Given the description of an element on the screen output the (x, y) to click on. 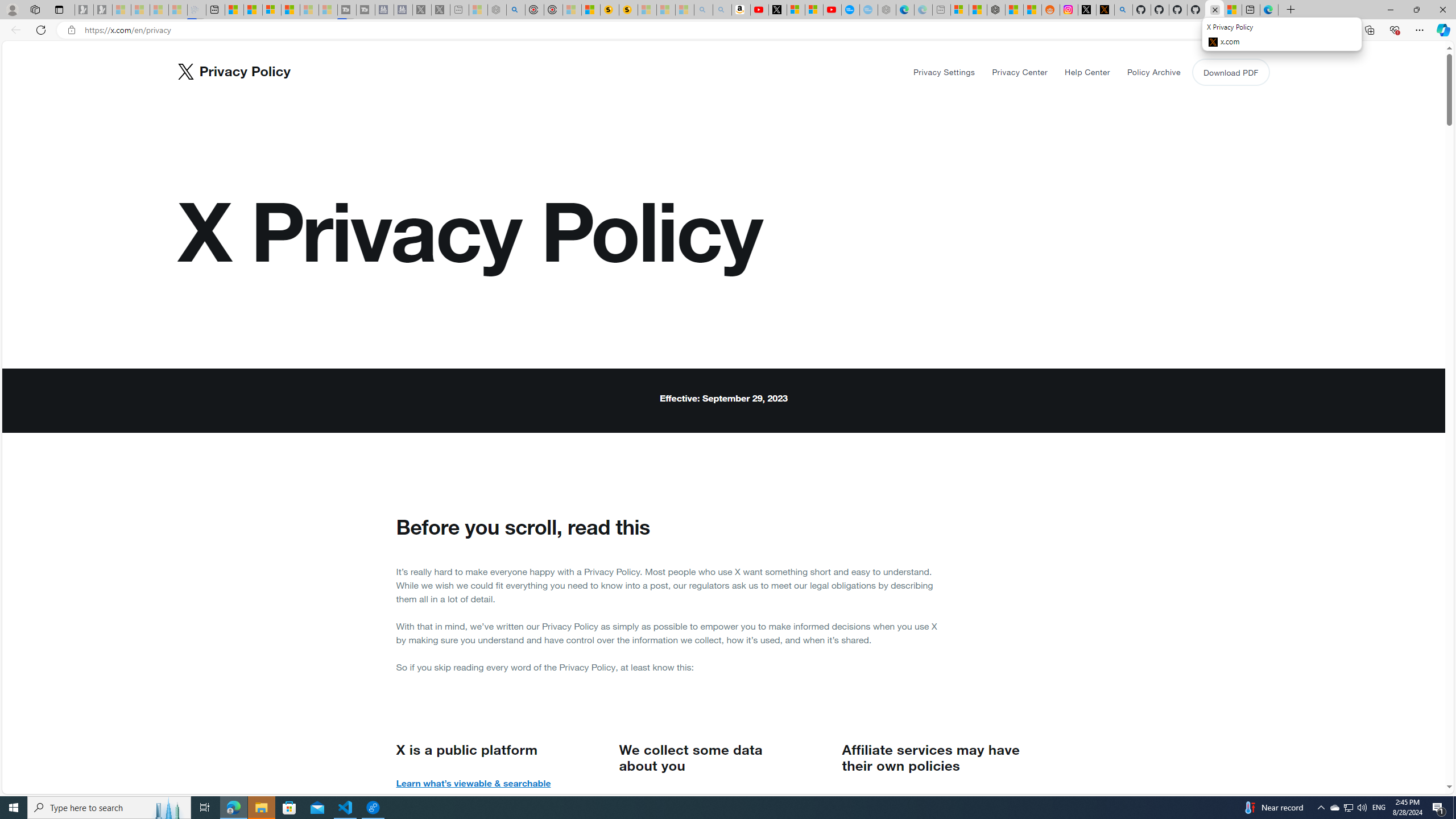
Policy Archive (1153, 72)
Log in to X / X (1086, 9)
Policy Archive (1153, 71)
Amazon Echo Dot PNG - Search Images - Sleeping (721, 9)
Day 1: Arriving in Yemen (surreal to be here) - YouTube (759, 9)
Privacy Center (1020, 72)
Nordace - Summer Adventures 2024 - Sleeping (497, 9)
